Given the description of an element on the screen output the (x, y) to click on. 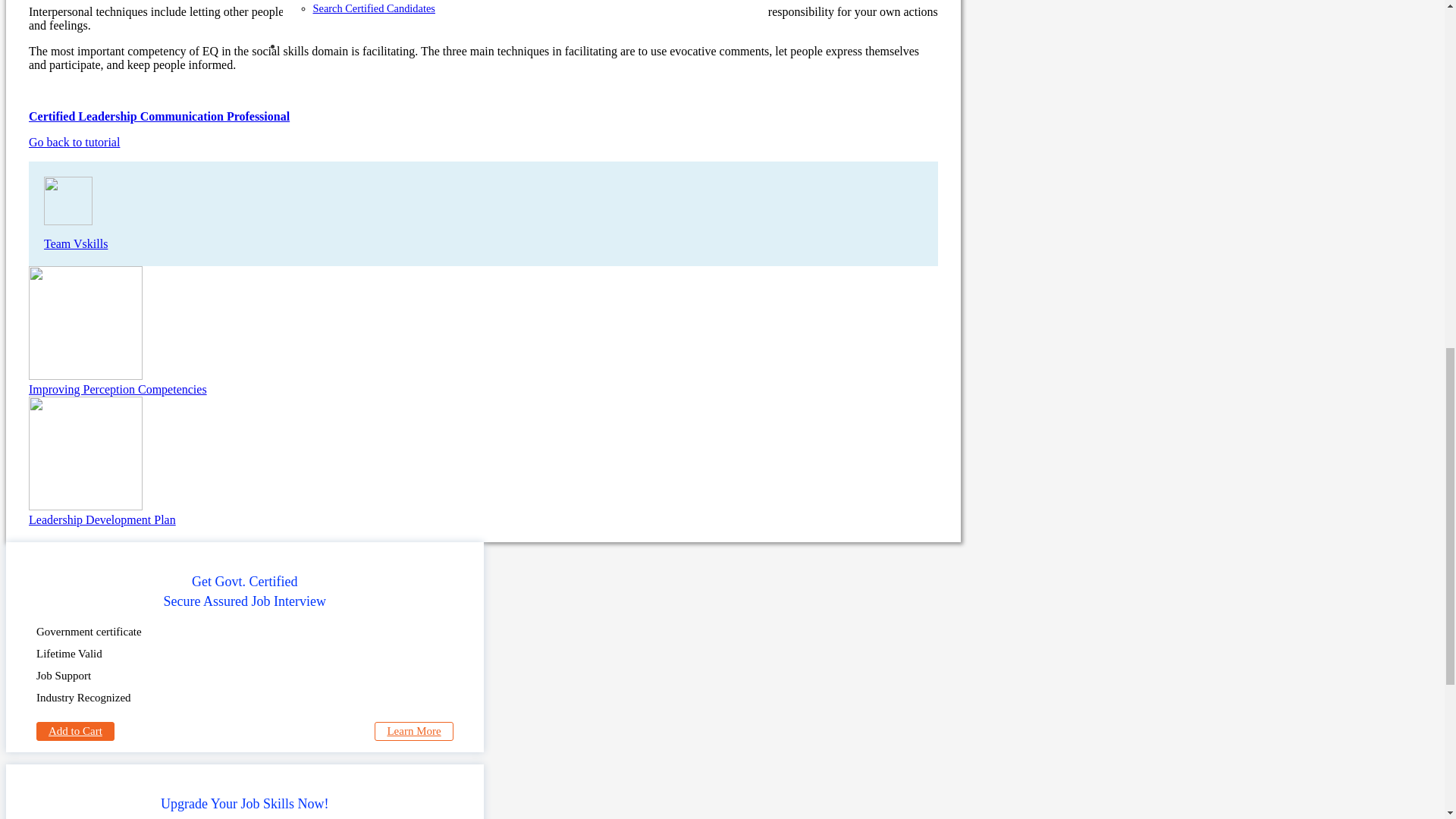
Improving Perception Competencies (483, 331)
Leadership Development Plan (483, 461)
